Given the description of an element on the screen output the (x, y) to click on. 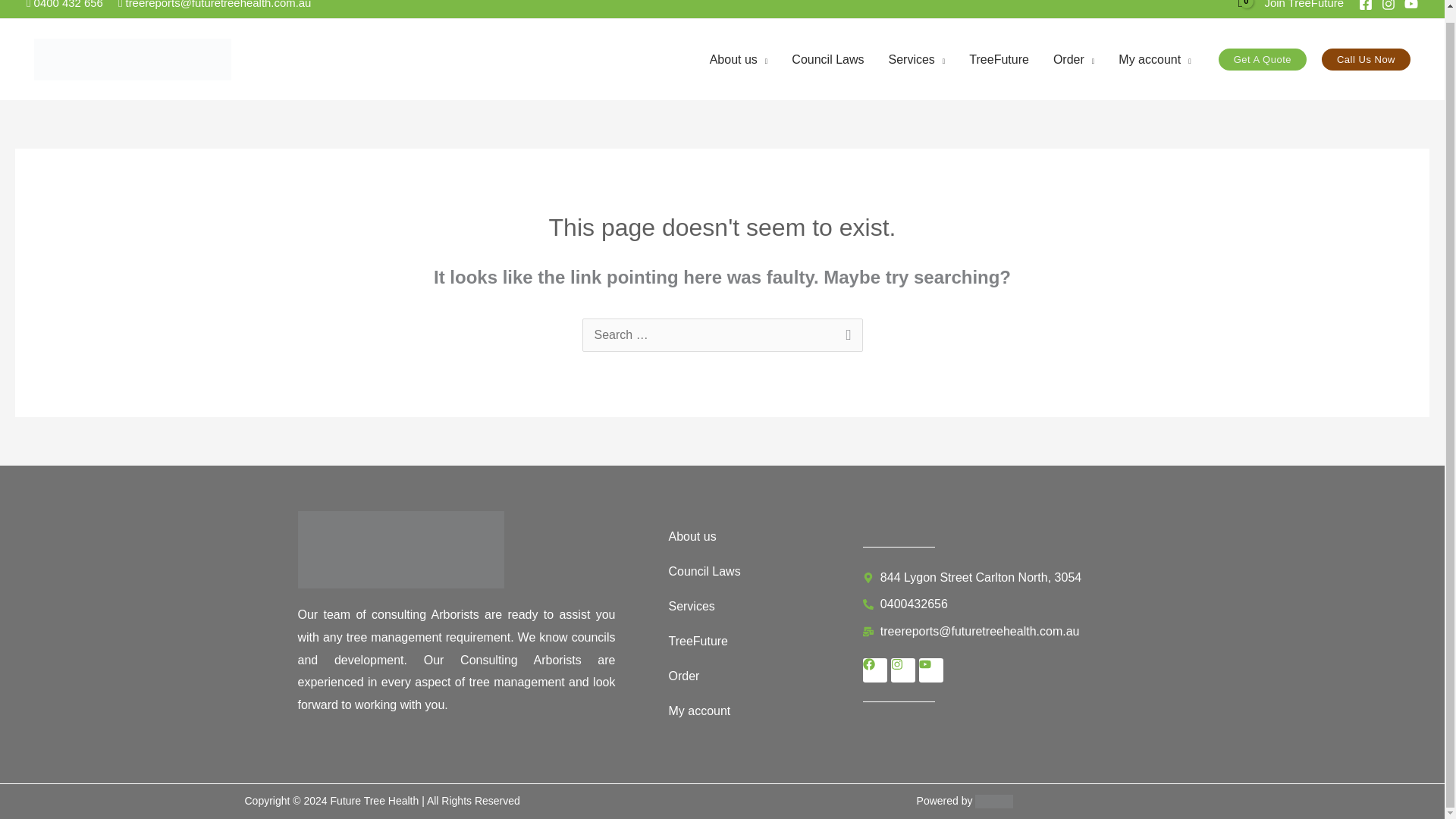
About us (738, 58)
 0400 432 656 (64, 4)
Order (1073, 58)
Services (916, 58)
Council Laws (827, 58)
TreeFuture (998, 58)
Join TreeFuture (1303, 4)
My account (1154, 58)
Get A Quote (1262, 59)
Call Us Now (1366, 59)
